Given the description of an element on the screen output the (x, y) to click on. 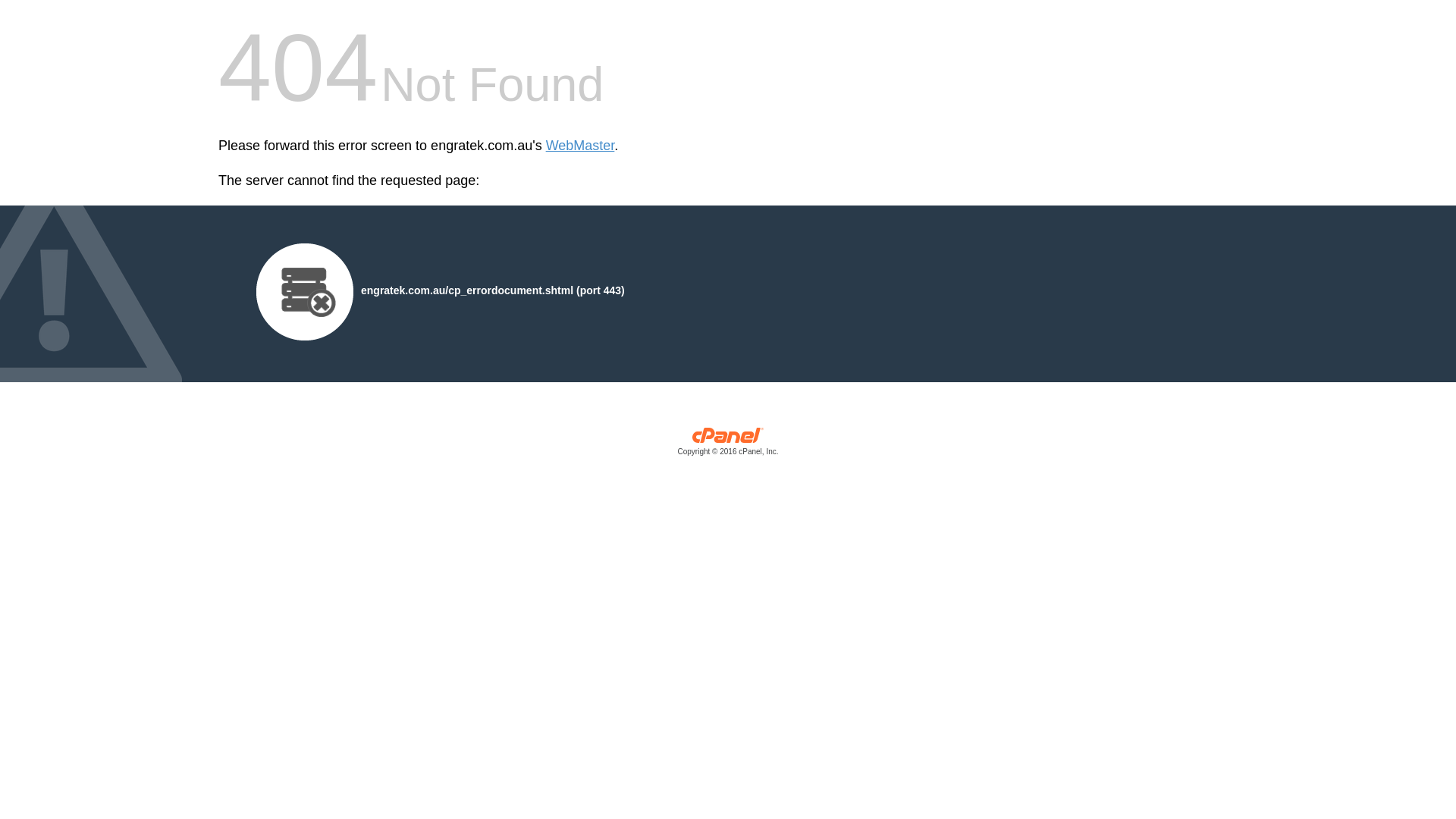
WebMaster Element type: text (580, 145)
